Given the description of an element on the screen output the (x, y) to click on. 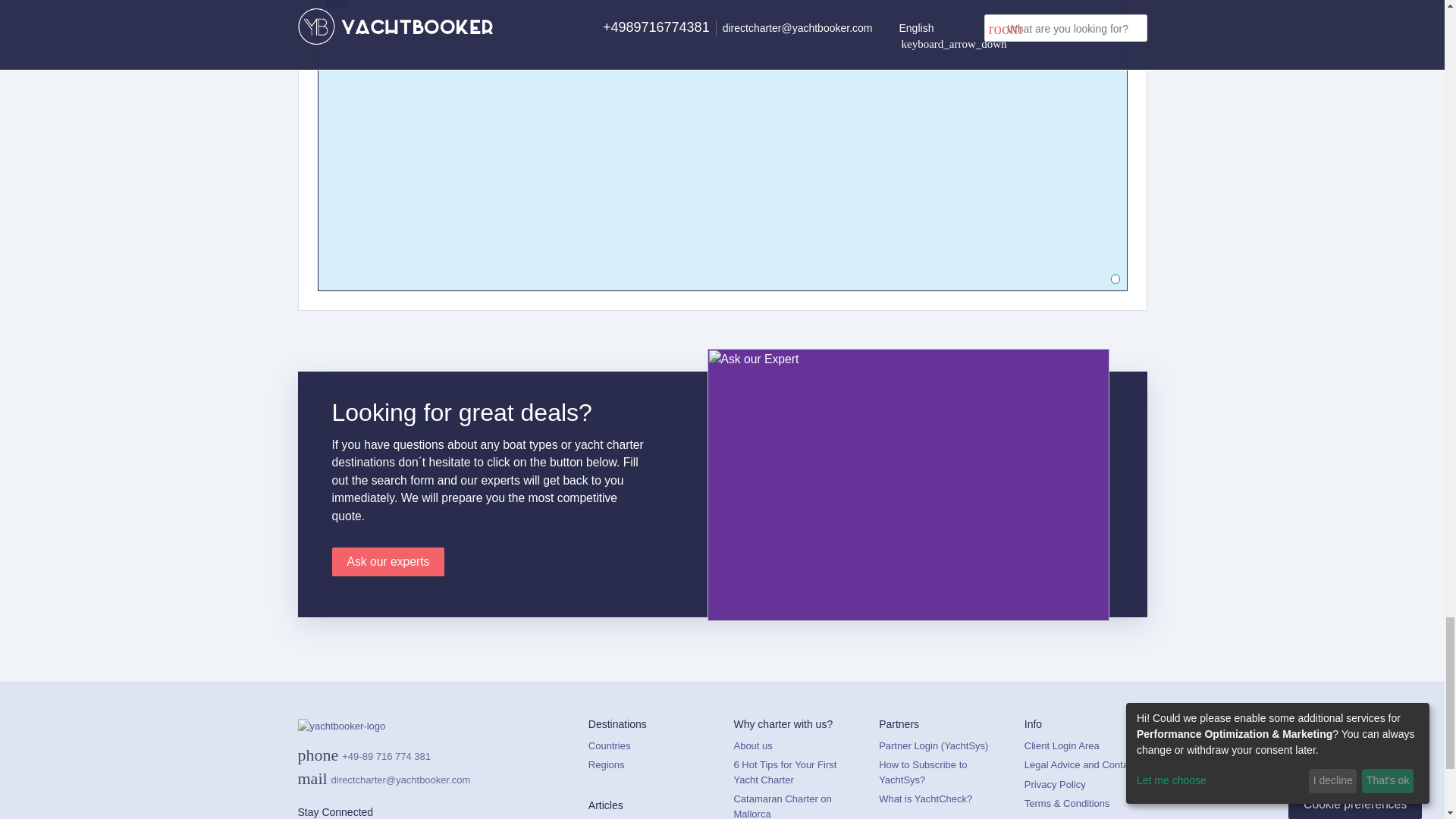
Ask our experts (388, 561)
